Given the description of an element on the screen output the (x, y) to click on. 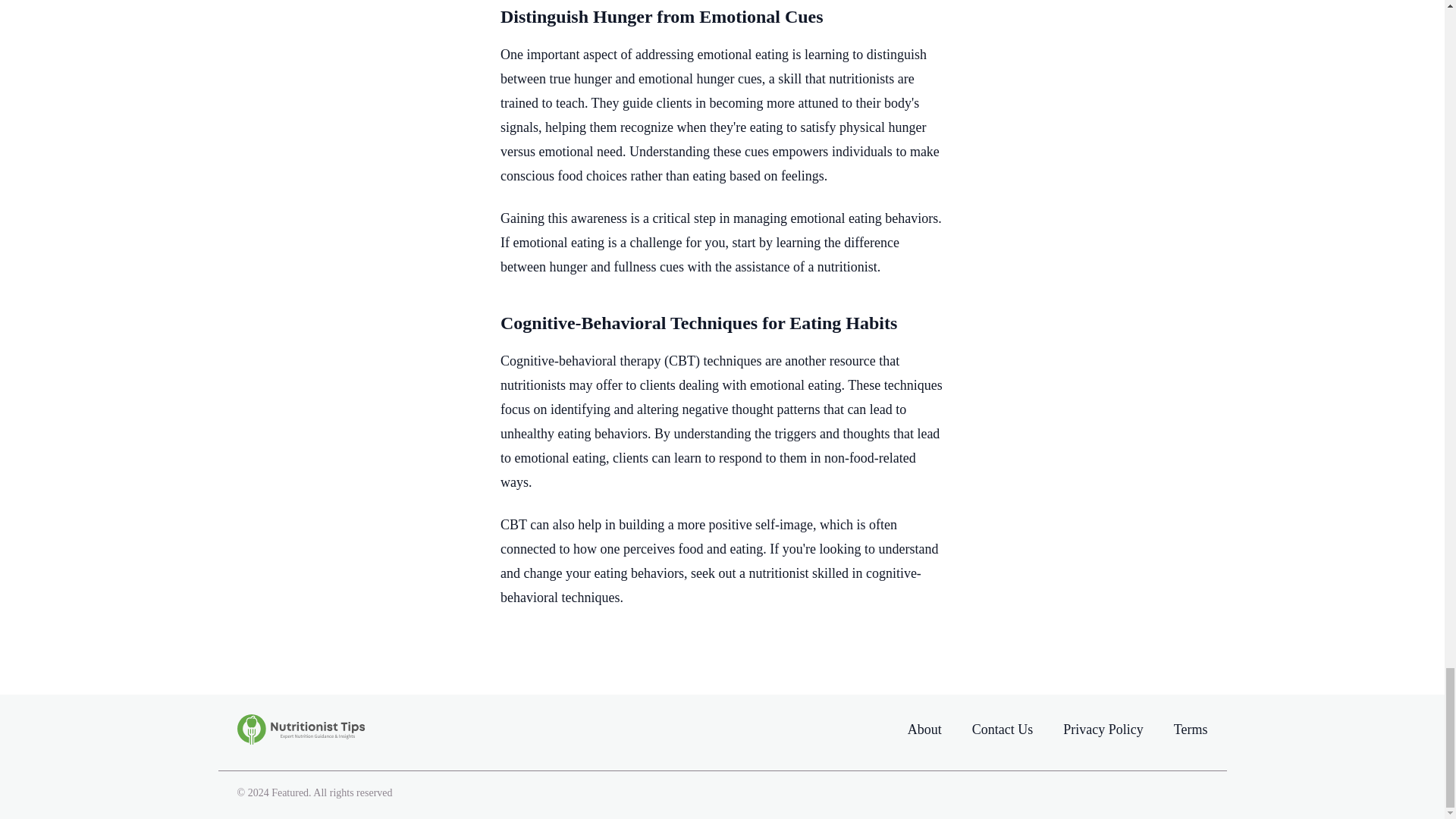
Contact Us (1002, 729)
Terms (1190, 729)
Privacy Policy (1102, 729)
About (924, 729)
